Given the description of an element on the screen output the (x, y) to click on. 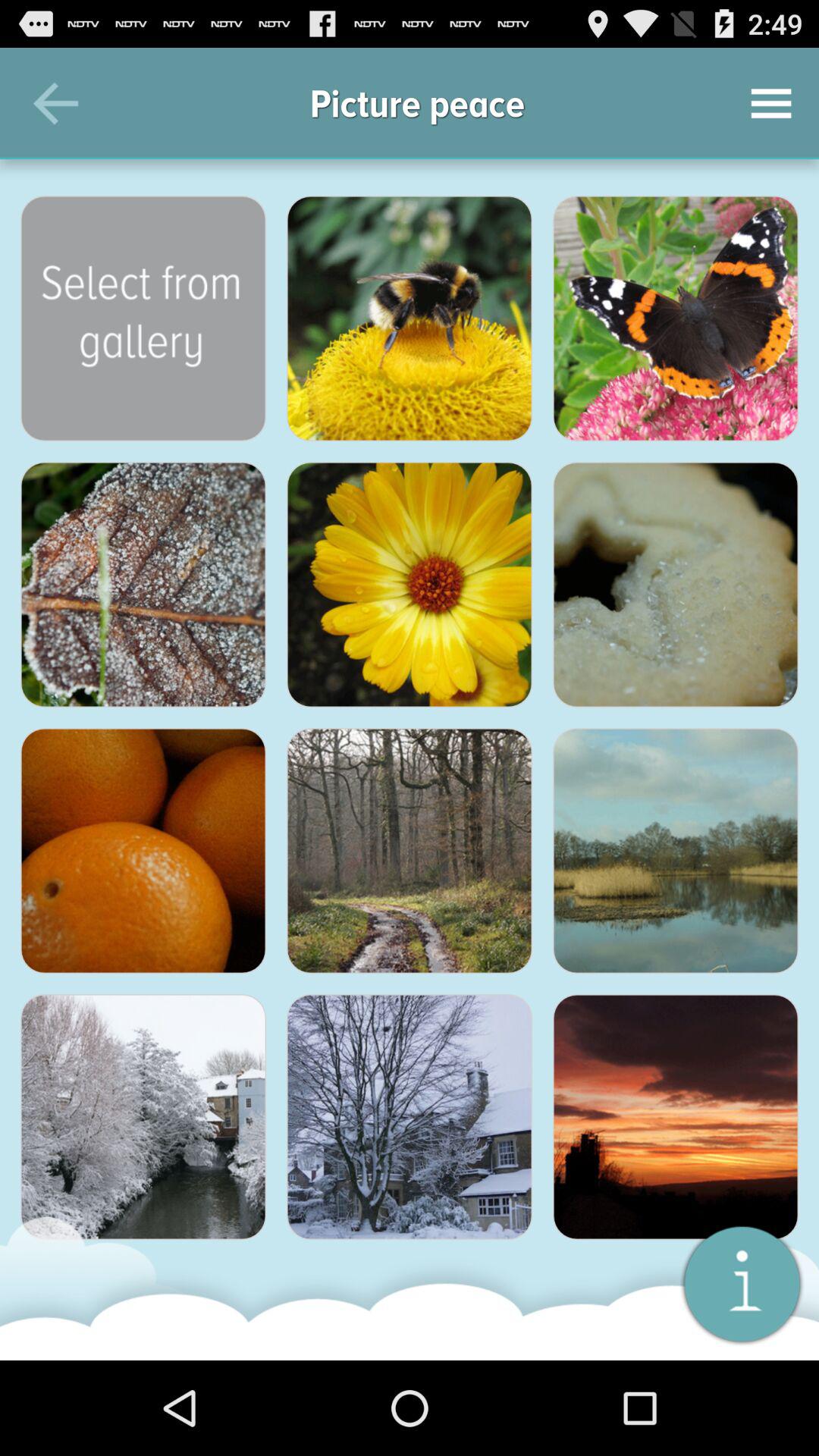
open info (742, 1283)
